Given the description of an element on the screen output the (x, y) to click on. 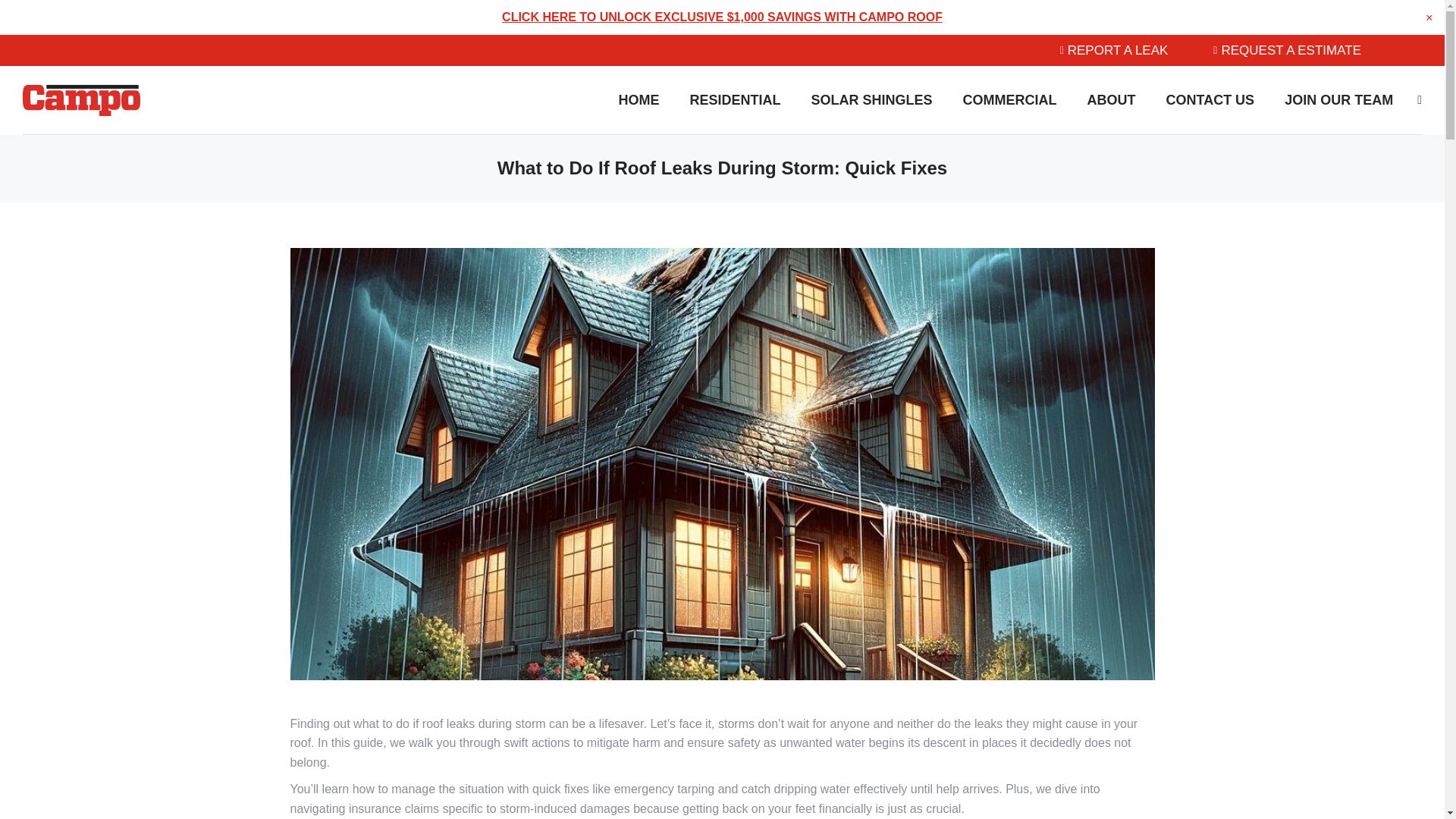
REPORT A LEAK (1114, 50)
SOLAR SHINGLES (871, 100)
RESIDENTIAL (734, 100)
COMMERCIAL (1009, 100)
CONTACT US (1209, 100)
JOIN OUR TEAM (1338, 100)
Go! (21, 14)
REQUEST A ESTIMATE (1286, 50)
